Given the description of an element on the screen output the (x, y) to click on. 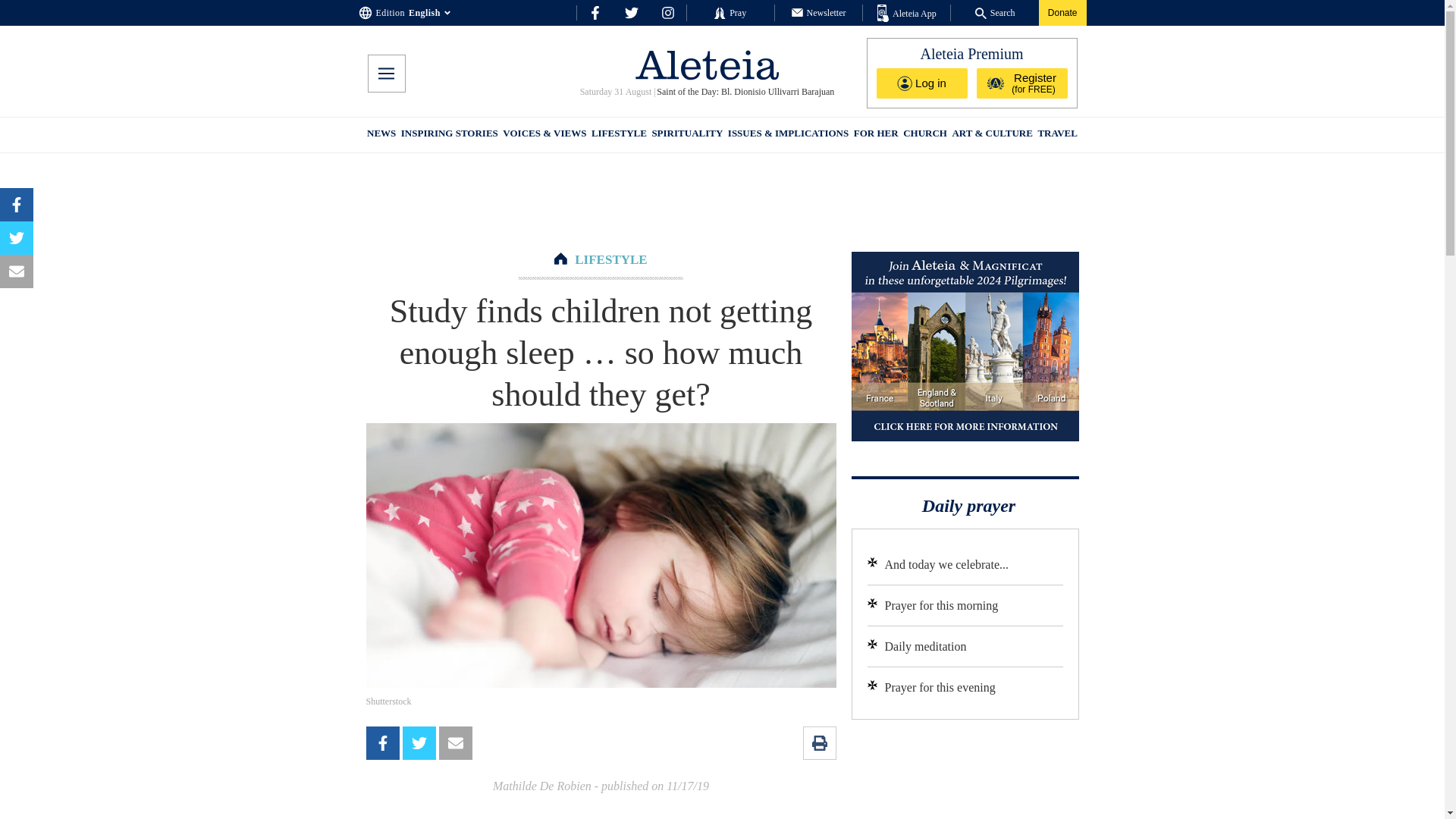
TRAVEL (1056, 134)
Aleteia App (906, 13)
social-fb-top-row (595, 12)
logo-header (706, 64)
Log in (922, 82)
Mathilde De Robien (542, 785)
Saint of the Day: Bl. Dionisio Ullivarri Barajuan (745, 91)
social-tw-top-row (631, 12)
mobile-menu-btn (385, 73)
CHURCH (924, 134)
